Given the description of an element on the screen output the (x, y) to click on. 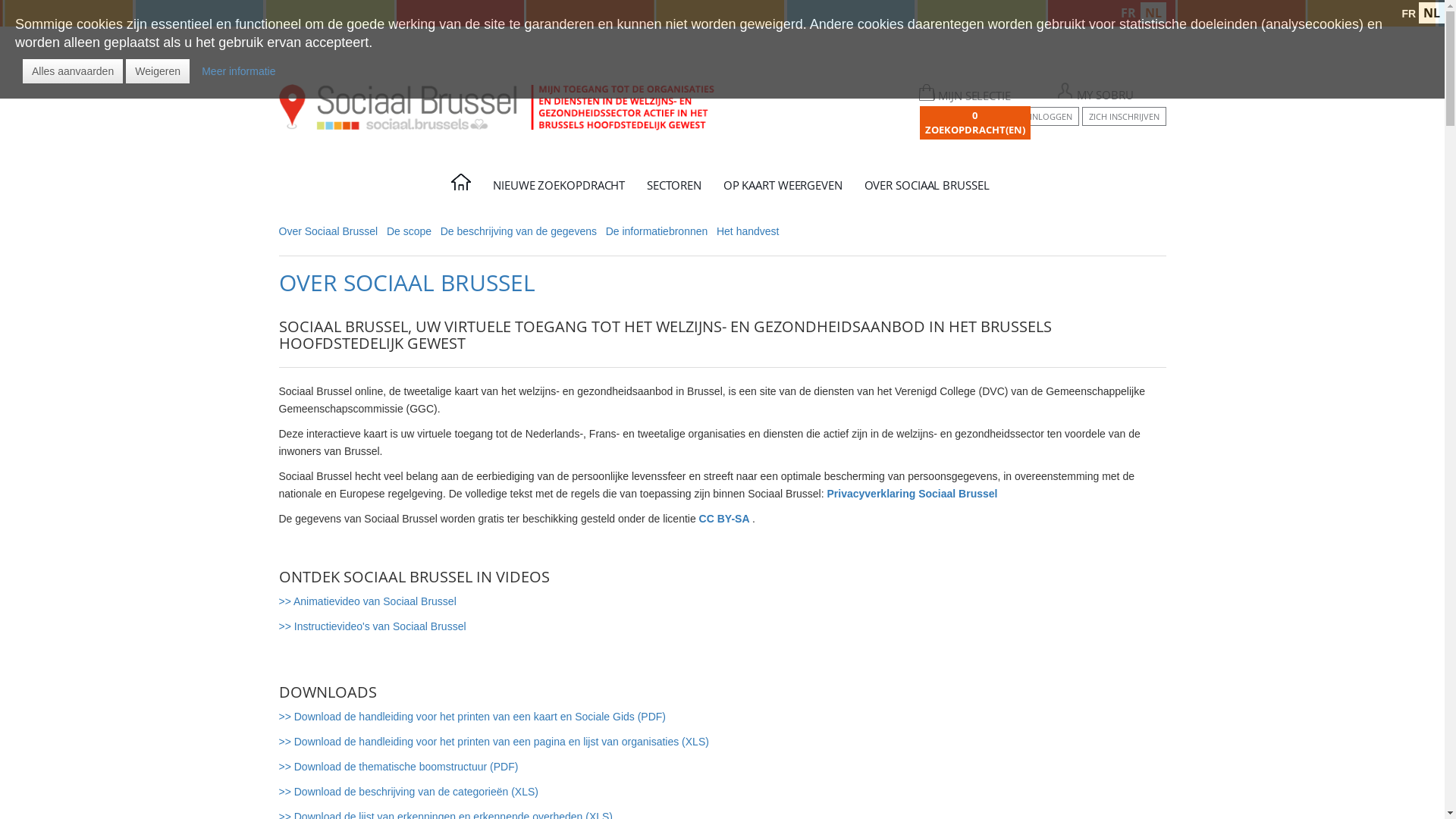
>> Animatievideo van Sociaal Brussel Element type: text (367, 601)
>> Instructievideo's van Sociaal Brussel Element type: text (372, 626)
Het handvest Element type: text (747, 231)
>> Download de thematische boomstructuur (PDF) Element type: text (398, 766)
De informatiebronnen Element type: text (656, 231)
Privacyverklaring Sociaal Brussel Element type: text (912, 493)
INLOGGEN Element type: text (1050, 115)
Weigeren Element type: text (157, 71)
OVER SOCIAAL BRUSSEL Element type: text (928, 189)
CC BY-SA Element type: text (725, 518)
ZICH INSCHRIJVEN Element type: text (1123, 115)
SECTOREN Element type: text (675, 189)
De scope Element type: text (408, 231)
FR Element type: text (1128, 12)
OVER SOCIAAL BRUSSEL Element type: text (407, 282)
NIEUWE ZOEKOPDRACHT Element type: text (560, 189)
De beschrijving van de gegevens Element type: text (518, 231)
0 ZOEKOPDRACHT(EN) Element type: text (974, 122)
Meer informatie Element type: text (238, 71)
OP KAART WEERGEVEN Element type: text (784, 189)
Over Sociaal Brussel Element type: text (328, 231)
FR Element type: text (1408, 13)
Alles aanvaarden Element type: text (72, 71)
